Given the description of an element on the screen output the (x, y) to click on. 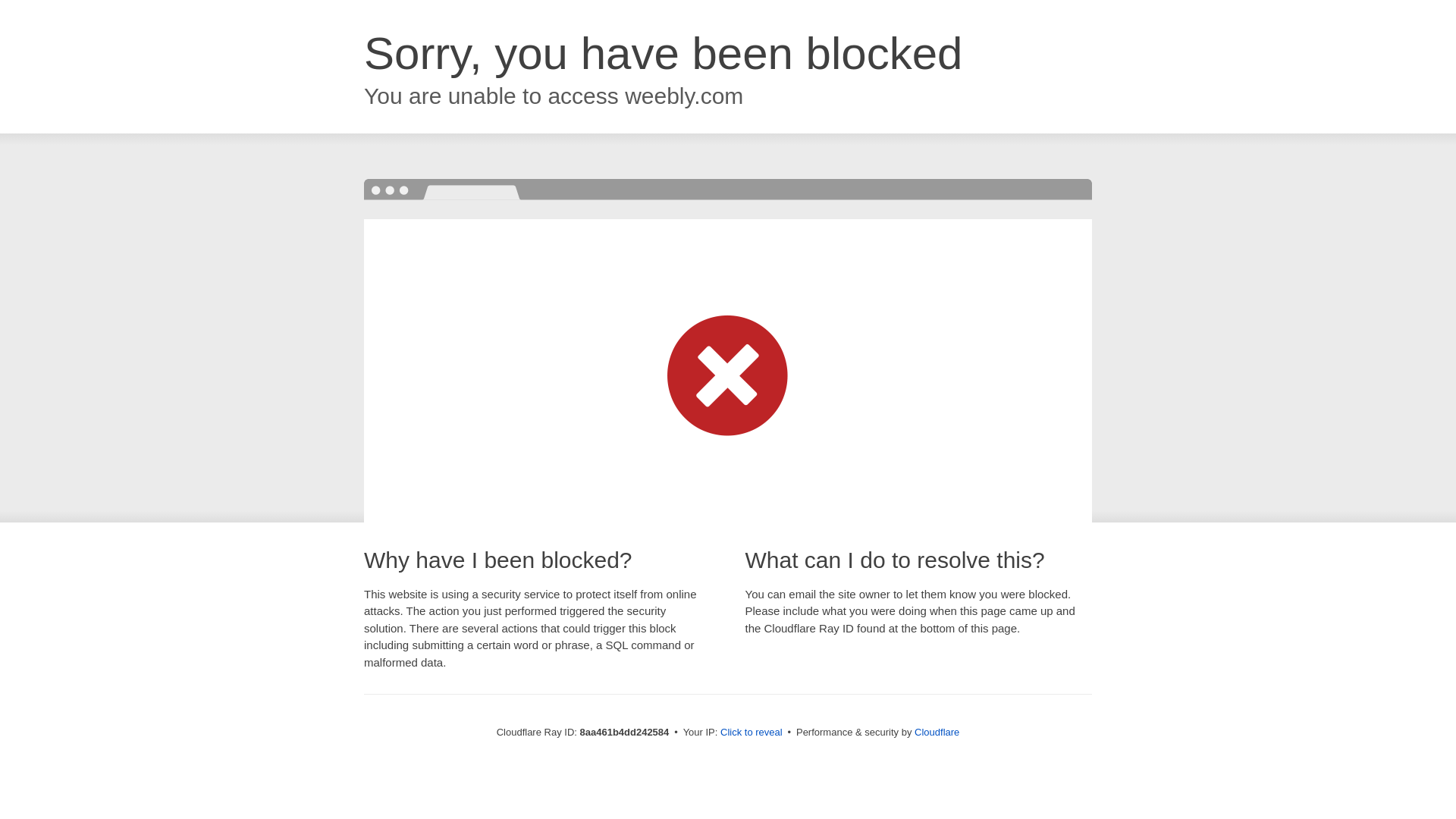
Click to reveal (751, 732)
Cloudflare (936, 731)
